Given the description of an element on the screen output the (x, y) to click on. 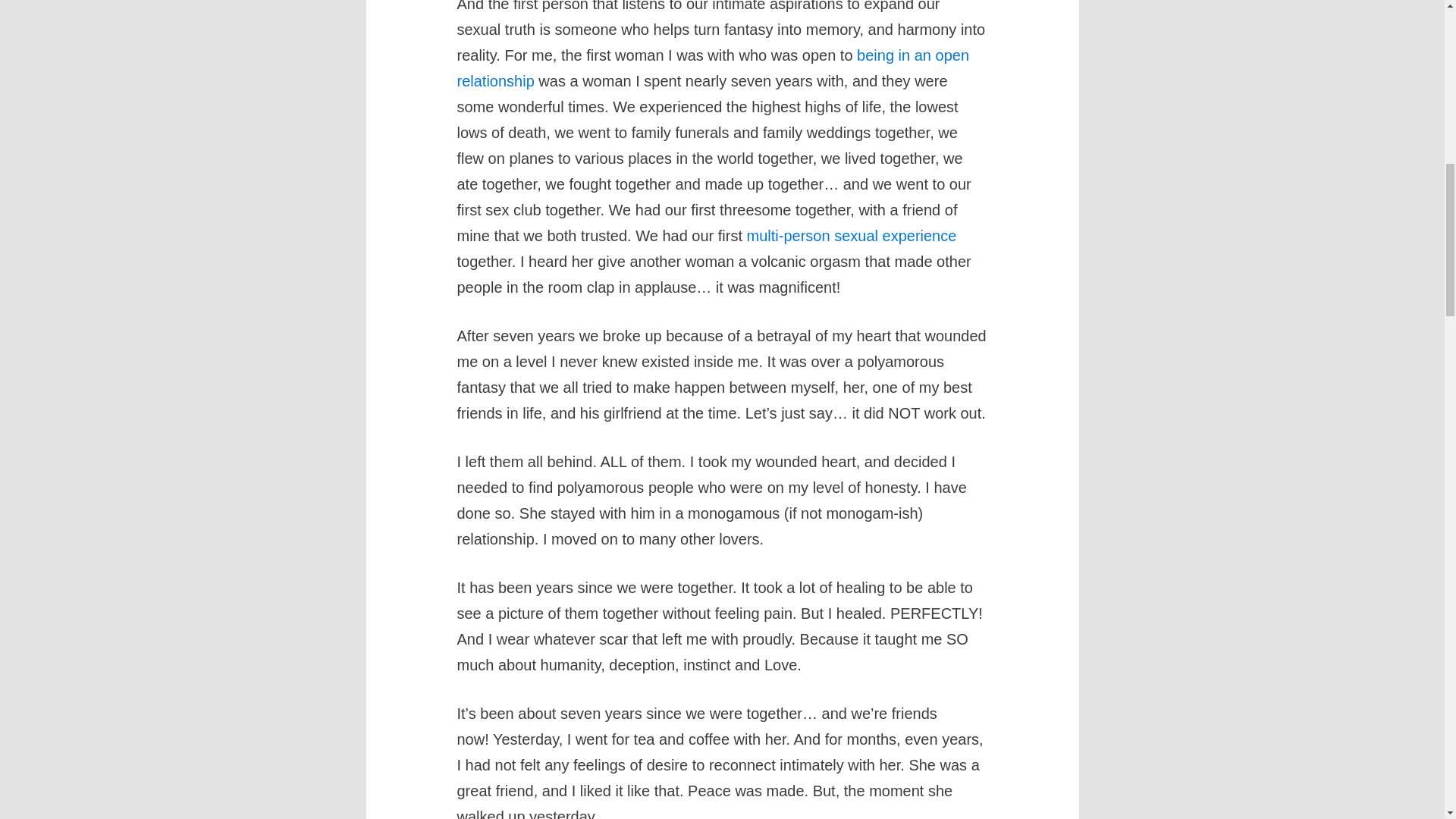
multi-person sexual experience (851, 235)
Open Relationships are Becoming More Mainstream (713, 67)
7 Rules for Group Sex Encounters (851, 235)
being in an open relationship (713, 67)
